Given the description of an element on the screen output the (x, y) to click on. 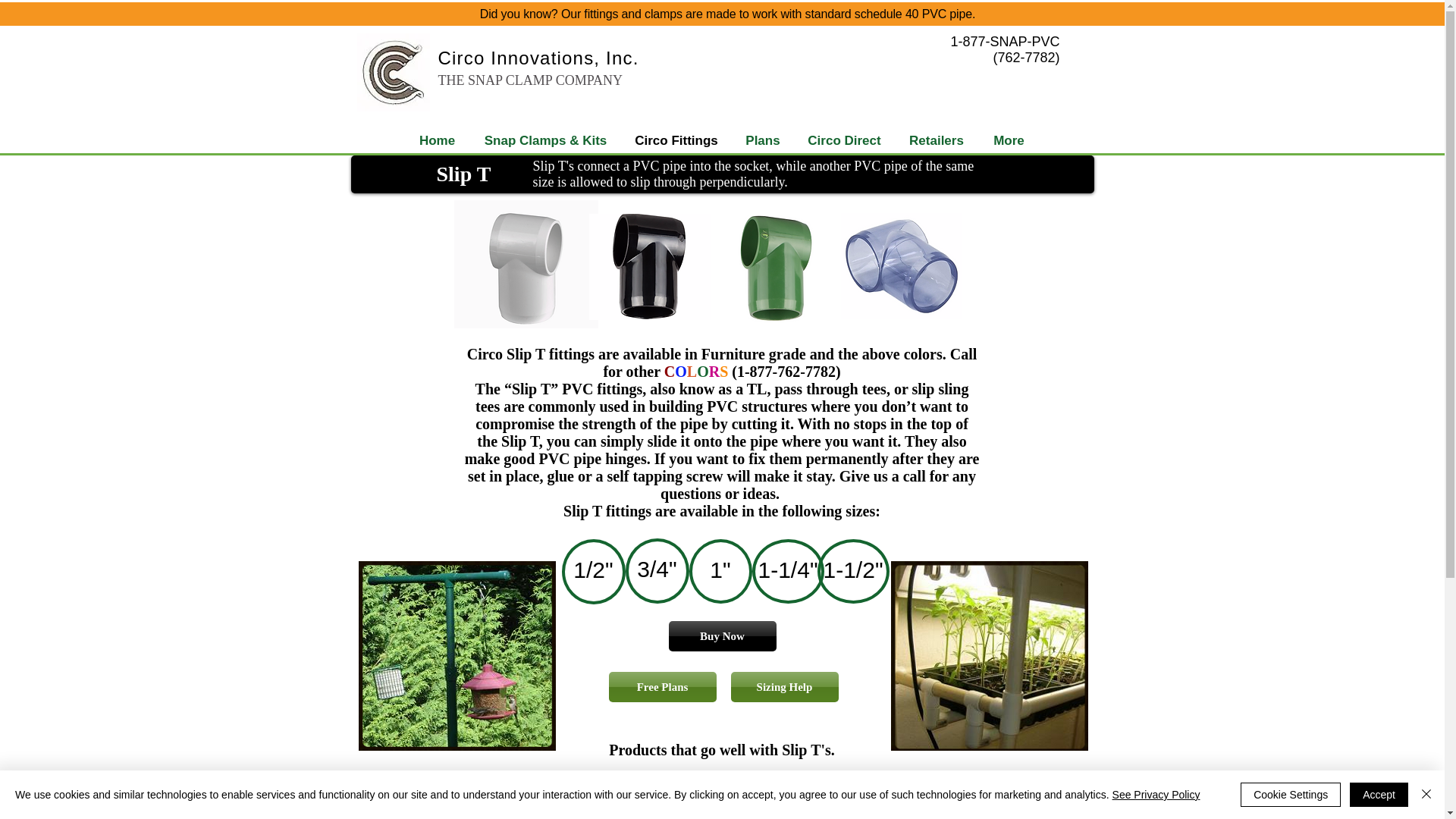
Circo Fittings (676, 140)
Circo Direct (844, 140)
snap-clamp-logo (392, 72)
Plans (762, 140)
Retailers (935, 140)
Home (436, 140)
